Given the description of an element on the screen output the (x, y) to click on. 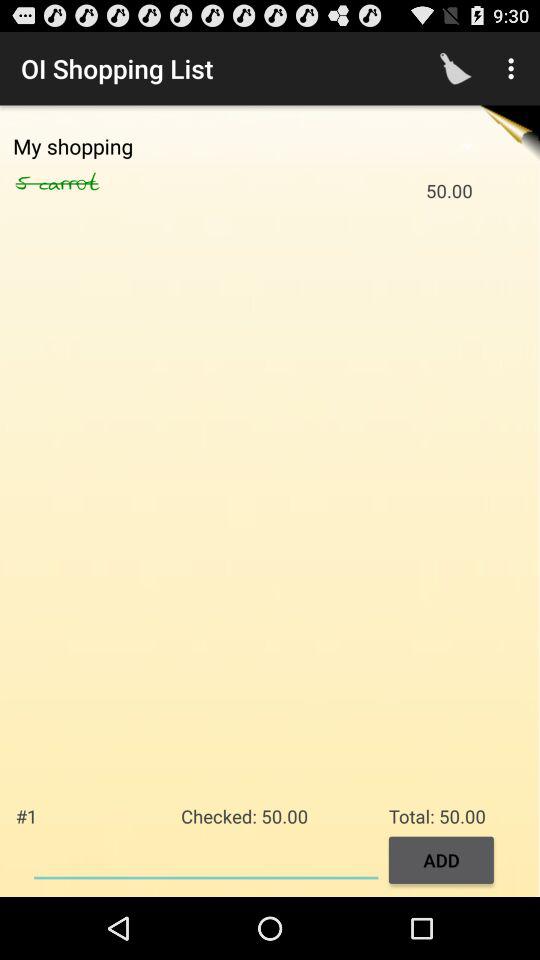
total amount (205, 858)
